Given the description of an element on the screen output the (x, y) to click on. 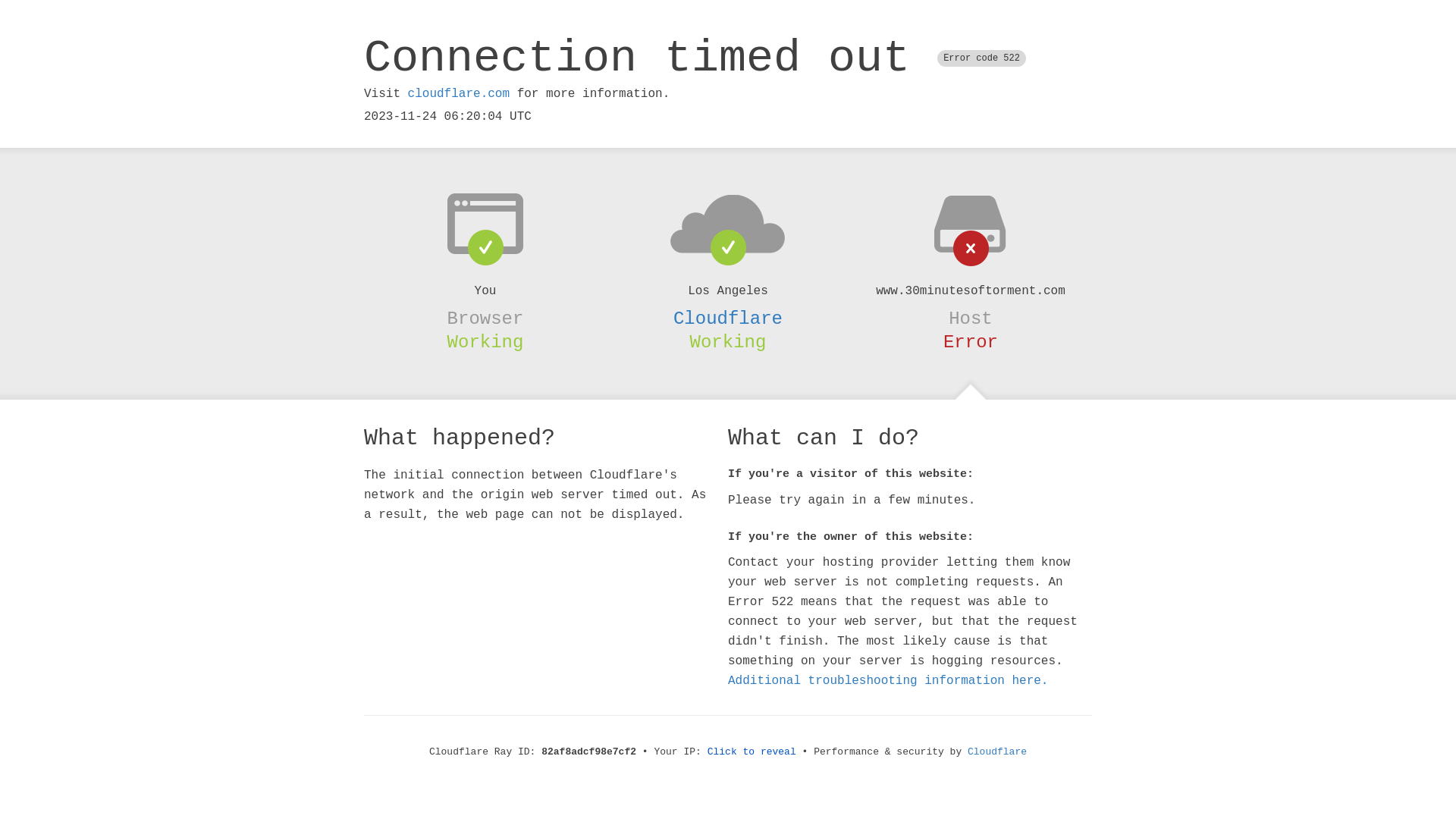
cloudflare.com Element type: text (458, 93)
Cloudflare Element type: text (727, 318)
Cloudflare Element type: text (996, 751)
Additional troubleshooting information here. Element type: text (888, 680)
Click to reveal Element type: text (751, 751)
